Given the description of an element on the screen output the (x, y) to click on. 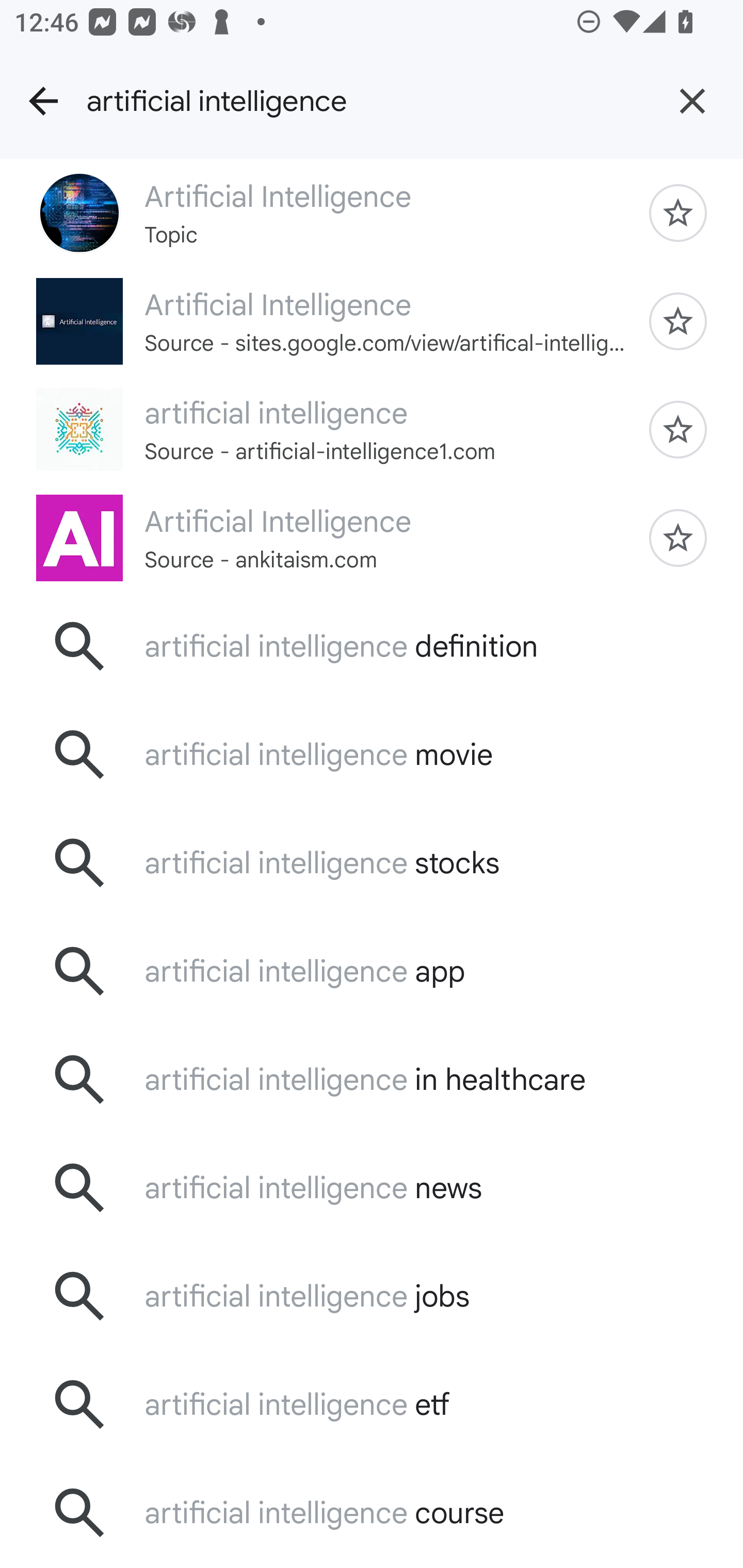
Back (43, 101)
artificial intelligence (363, 101)
Clear text (692, 101)
Artificial Intelligence Topic Follow (371, 212)
Follow (677, 212)
Follow (677, 321)
Follow (677, 429)
Follow (677, 538)
artificial intelligence definition (371, 646)
artificial intelligence movie (371, 754)
artificial intelligence stocks (371, 863)
artificial intelligence app (371, 971)
artificial intelligence in healthcare (371, 1079)
artificial intelligence news (371, 1187)
artificial intelligence jobs (371, 1295)
artificial intelligence etf (371, 1404)
artificial intelligence course (371, 1512)
